Given the description of an element on the screen output the (x, y) to click on. 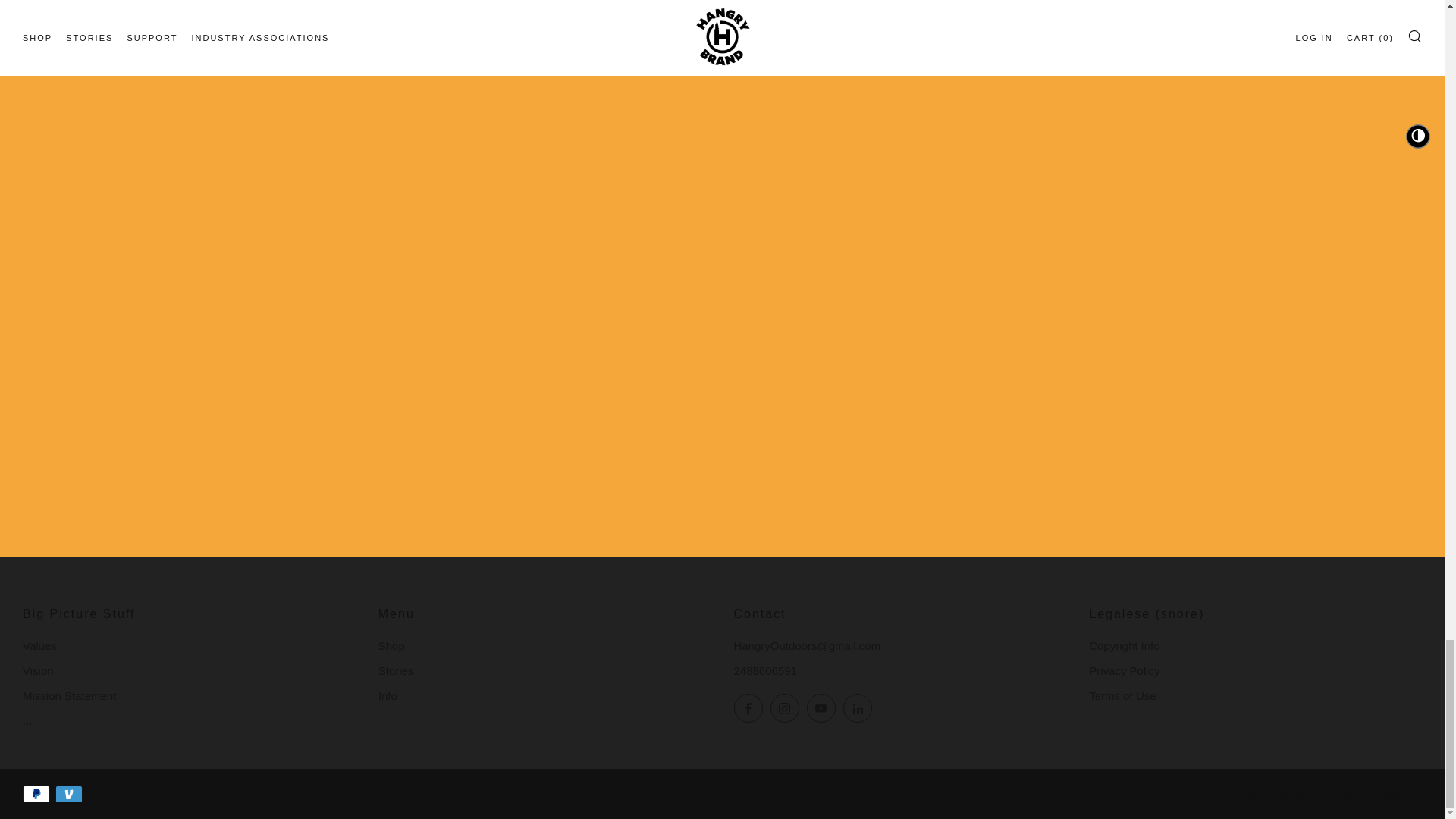
Mission Statement (69, 695)
Vision (38, 670)
Shop (391, 645)
Values (39, 645)
